Given the description of an element on the screen output the (x, y) to click on. 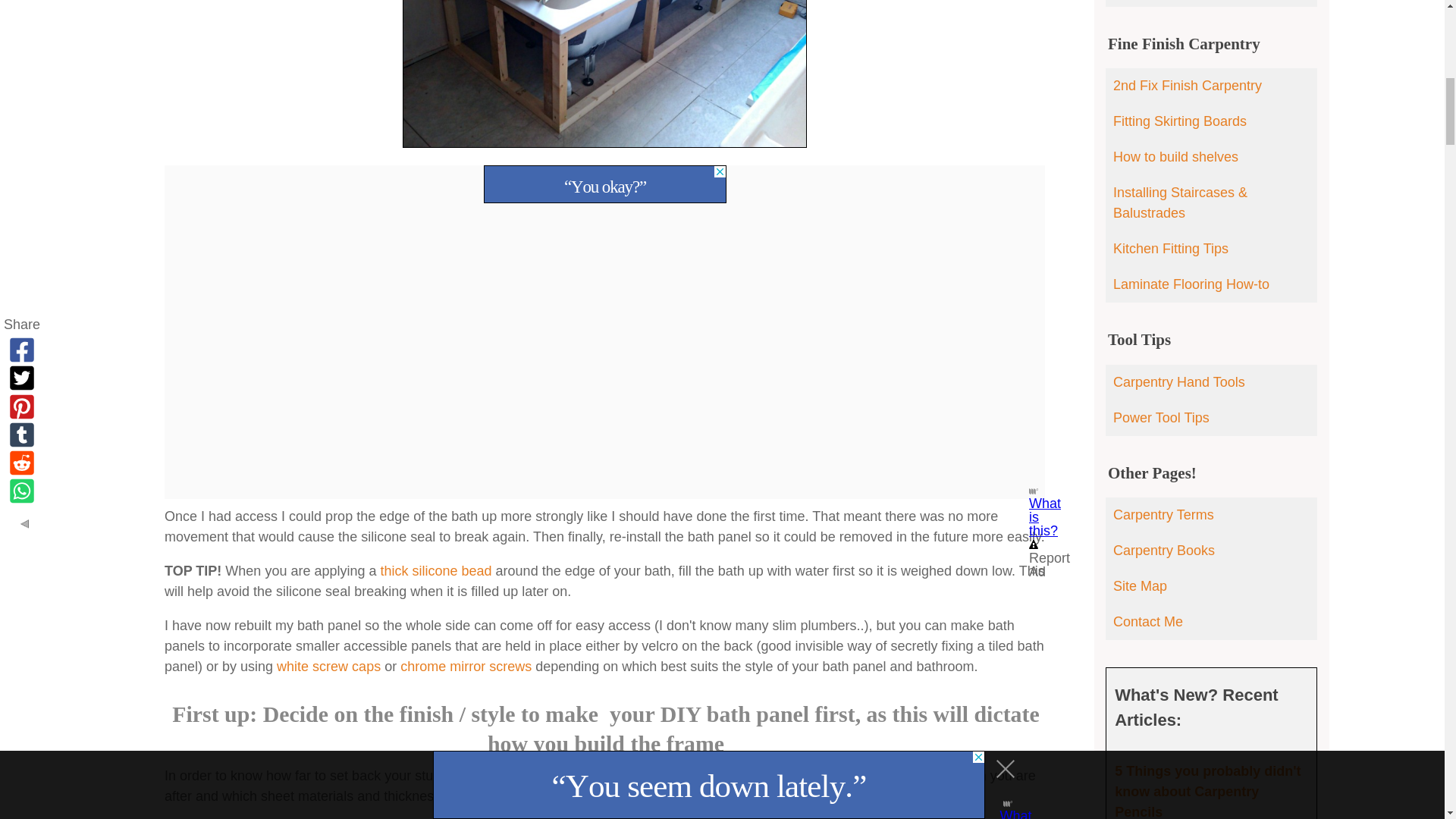
3rd party ad content (604, 184)
Power Tool Tips (1211, 417)
Carpentry Terms (1211, 515)
chrome mirror screws (465, 666)
Carpentry Books (1211, 550)
Contact Me (1211, 621)
Loft Conversion Tips (1211, 3)
Carpentry Hand Tools (1211, 382)
5 Things you probably didn't know about Carpentry Pencils (1207, 791)
white screw caps (328, 666)
Site Map (1211, 586)
How to build shelves (1211, 157)
2nd Fix Finish Carpentry (1211, 85)
Fitting Skirting Boards (1211, 121)
